Given the description of an element on the screen output the (x, y) to click on. 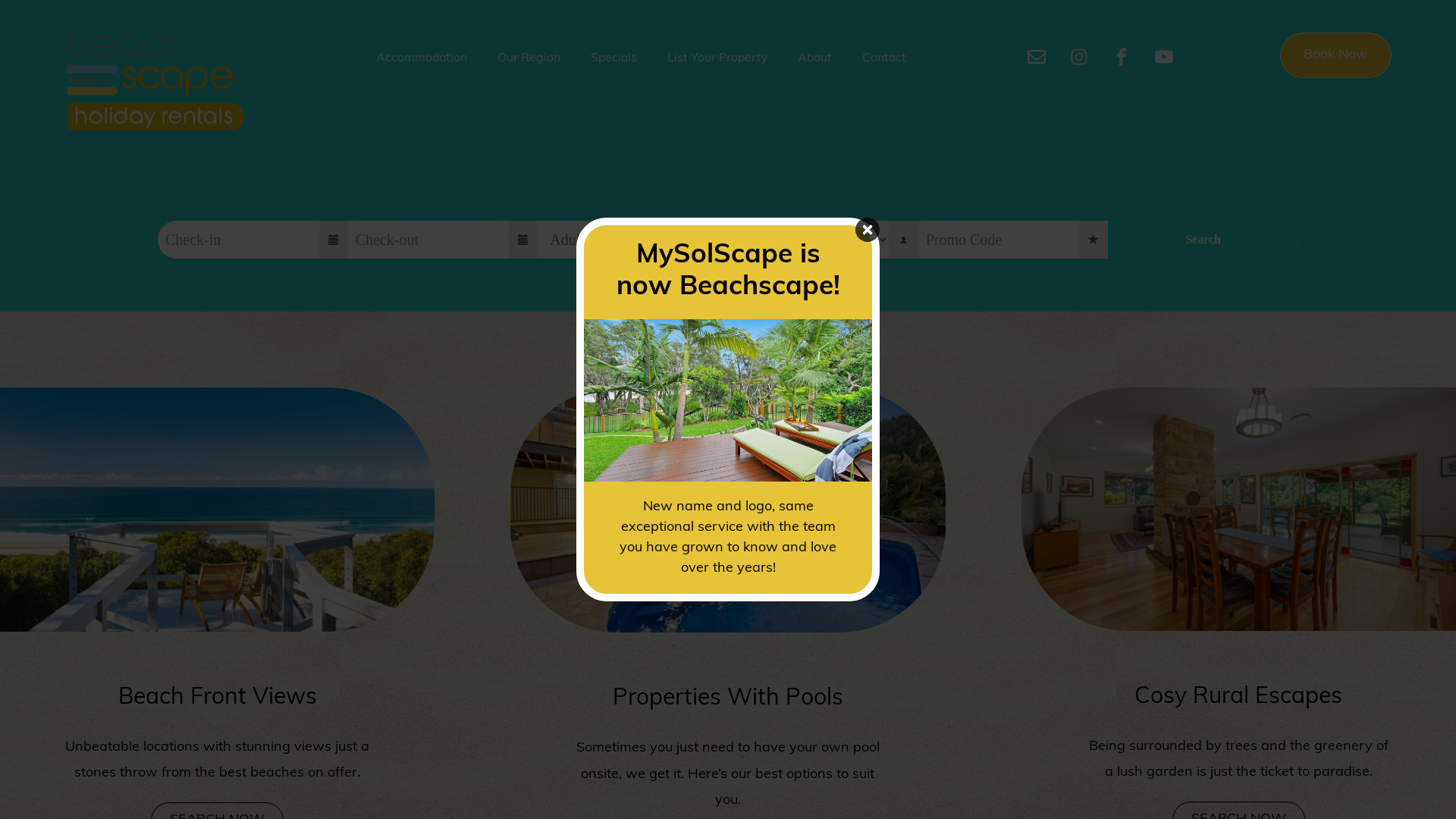
About Element type: text (810, 51)
Specials Element type: text (609, 51)
List Your Property Element type: text (712, 51)
Book Now Element type: text (1325, 55)
Our Region Element type: text (524, 51)
Contact Element type: text (879, 51)
Accommodation Element type: text (416, 51)
